Given the description of an element on the screen output the (x, y) to click on. 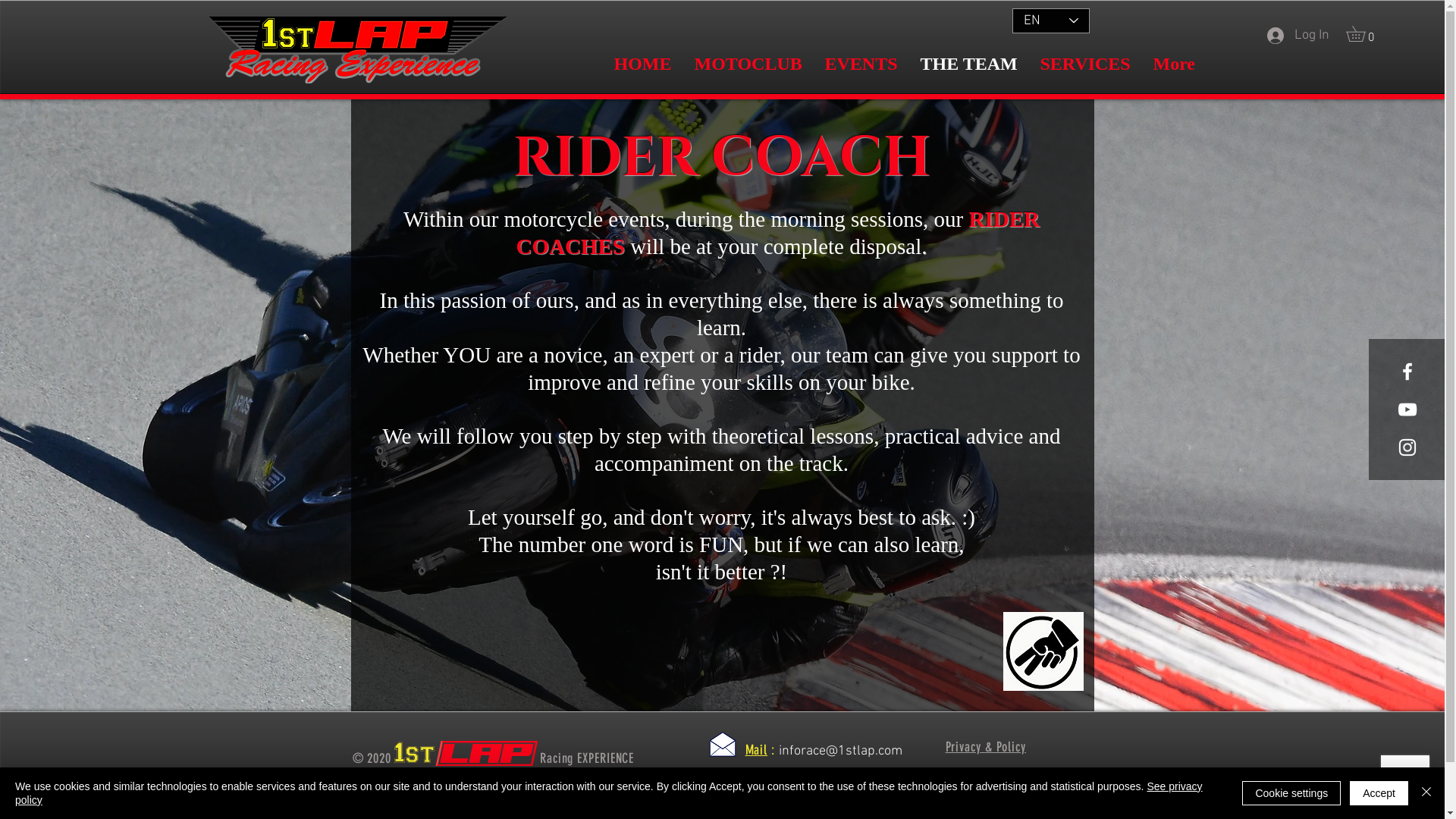
See privacy policy Element type: text (608, 793)
MOTOCLUB Element type: text (747, 63)
Accept Element type: text (1378, 793)
THE TEAM Element type: text (968, 63)
General terms and conditions Element type: text (990, 794)
HOME Element type: text (642, 63)
0 Element type: text (1363, 33)
SERVICES Element type: text (1084, 63)
Privacy & Policy Element type: text (984, 748)
Log In Element type: text (1297, 35)
Mail :  Element type: text (761, 751)
inforace@1stlap.com Element type: text (840, 751)
EVENTS Element type: text (860, 63)
Cookie settings Element type: text (1291, 793)
